Given the description of an element on the screen output the (x, y) to click on. 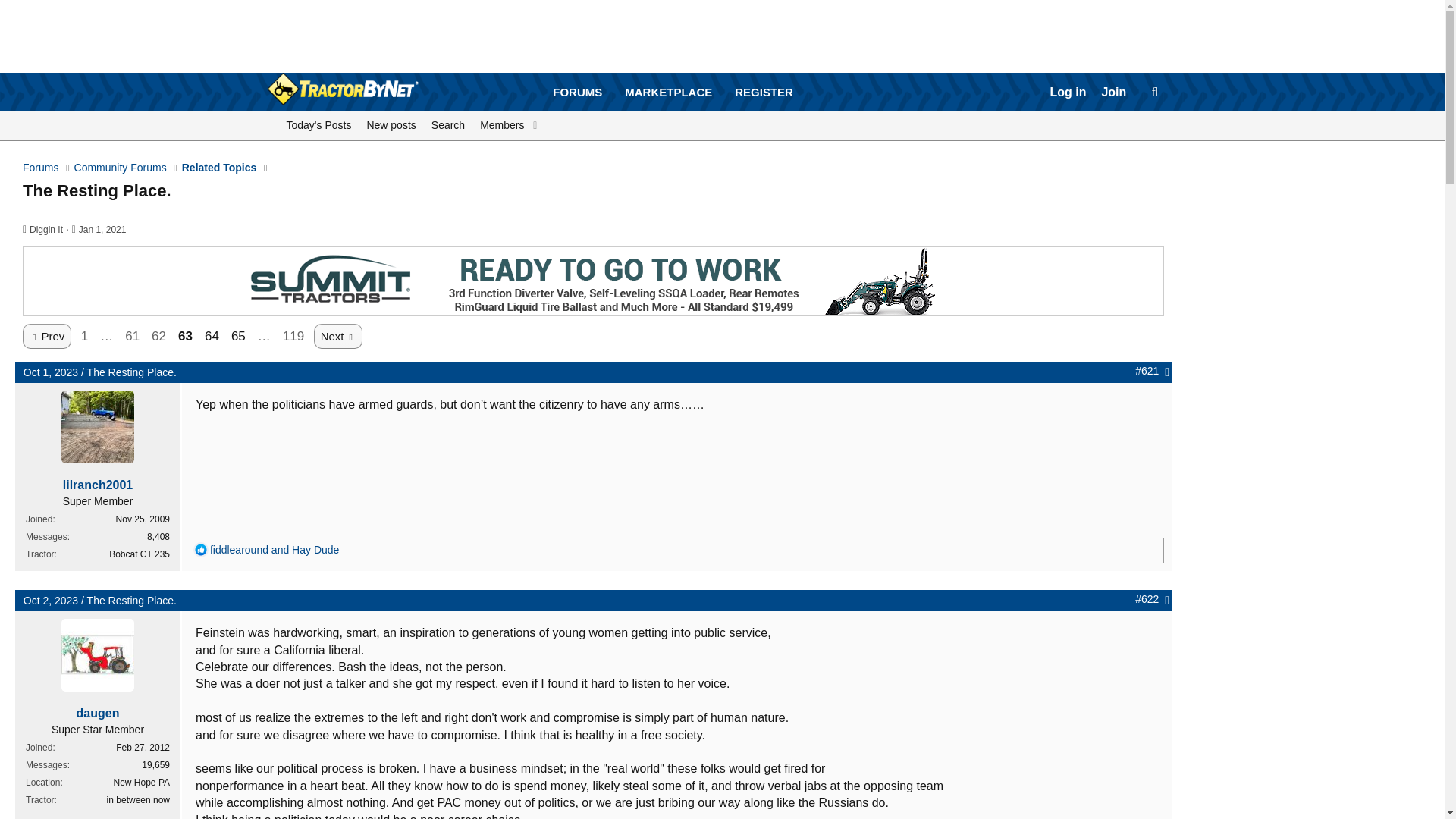
Oct 1, 2023 at 10:54 PM (673, 92)
Prev (673, 109)
Today's Posts (50, 372)
FORUMS (47, 335)
Jan 1, 2021 (319, 125)
New posts (576, 91)
MARKETPLACE (102, 229)
Log in (390, 125)
Diggin It (667, 91)
Search (1067, 92)
Related Topics (45, 229)
Forums (447, 125)
